Given the description of an element on the screen output the (x, y) to click on. 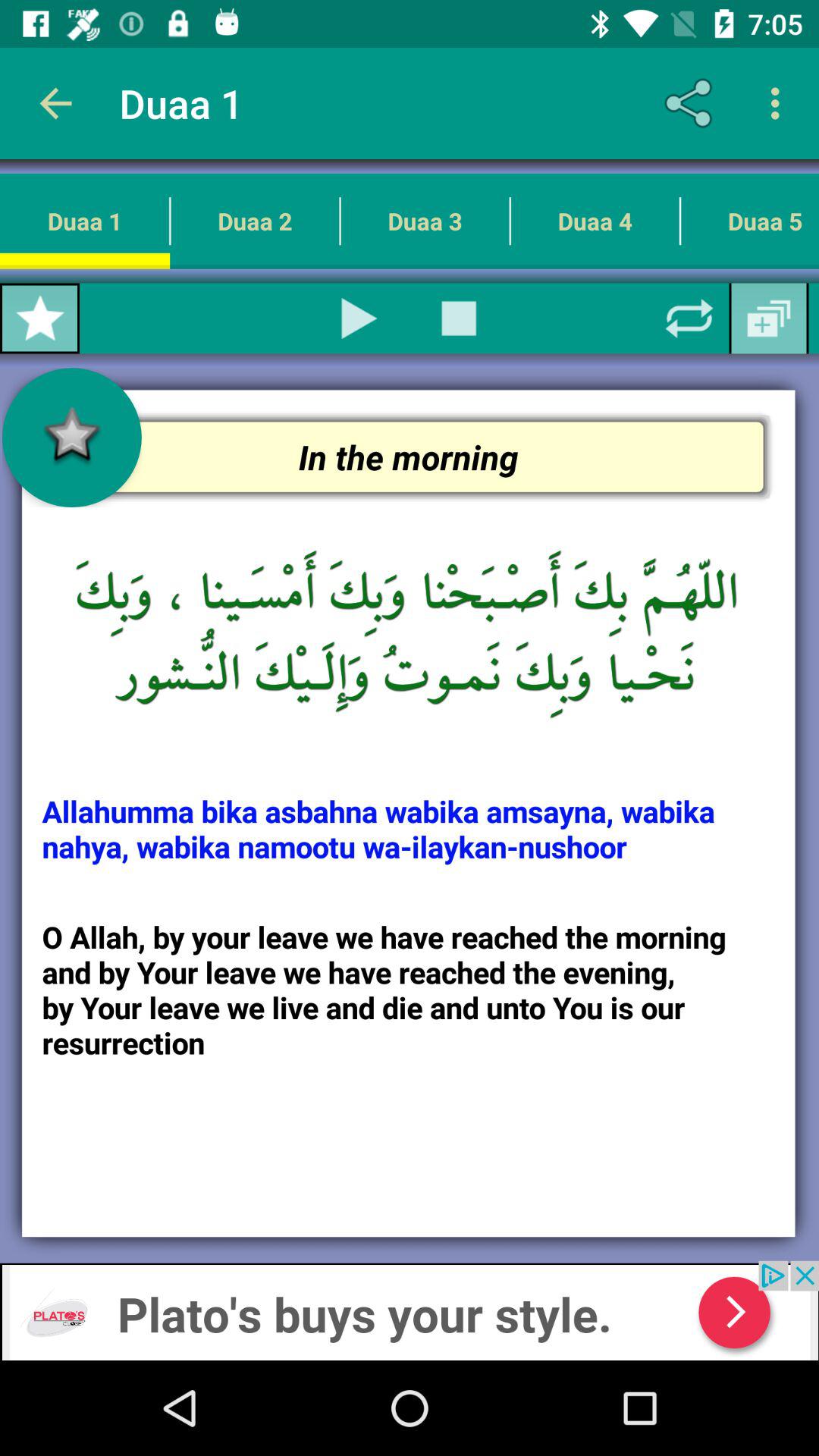
button used to stop the video play (458, 318)
